Given the description of an element on the screen output the (x, y) to click on. 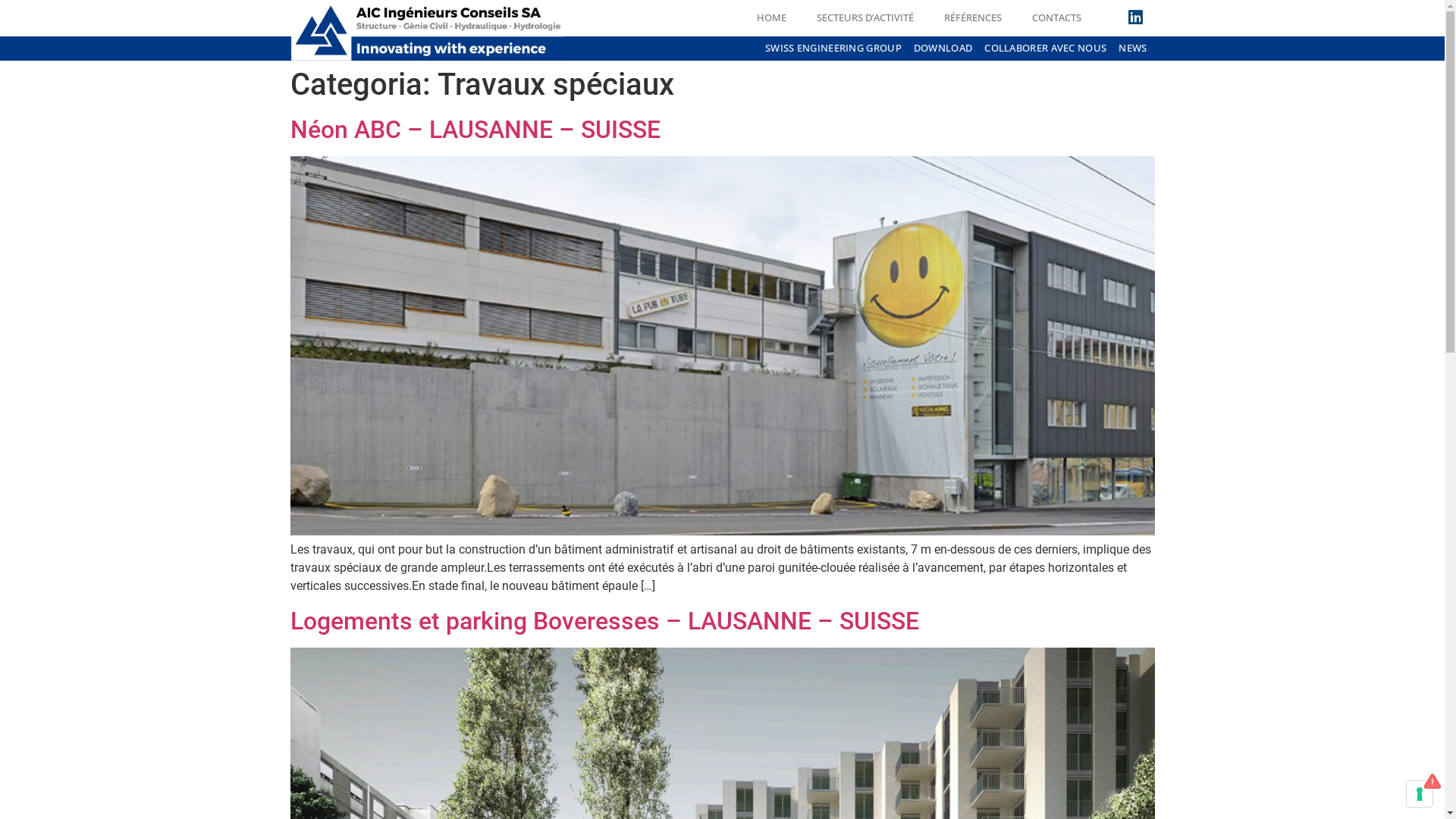
HOME Element type: text (771, 17)
AICLOGO Element type: hover (427, 30)
NEWS Element type: text (1132, 48)
SWISS ENGINEERING GROUP Element type: text (833, 48)
DOWNLOAD Element type: text (942, 48)
COLLABORER AVEC NOUS Element type: text (1045, 48)
CONTACTS Element type: text (1056, 17)
